Given the description of an element on the screen output the (x, y) to click on. 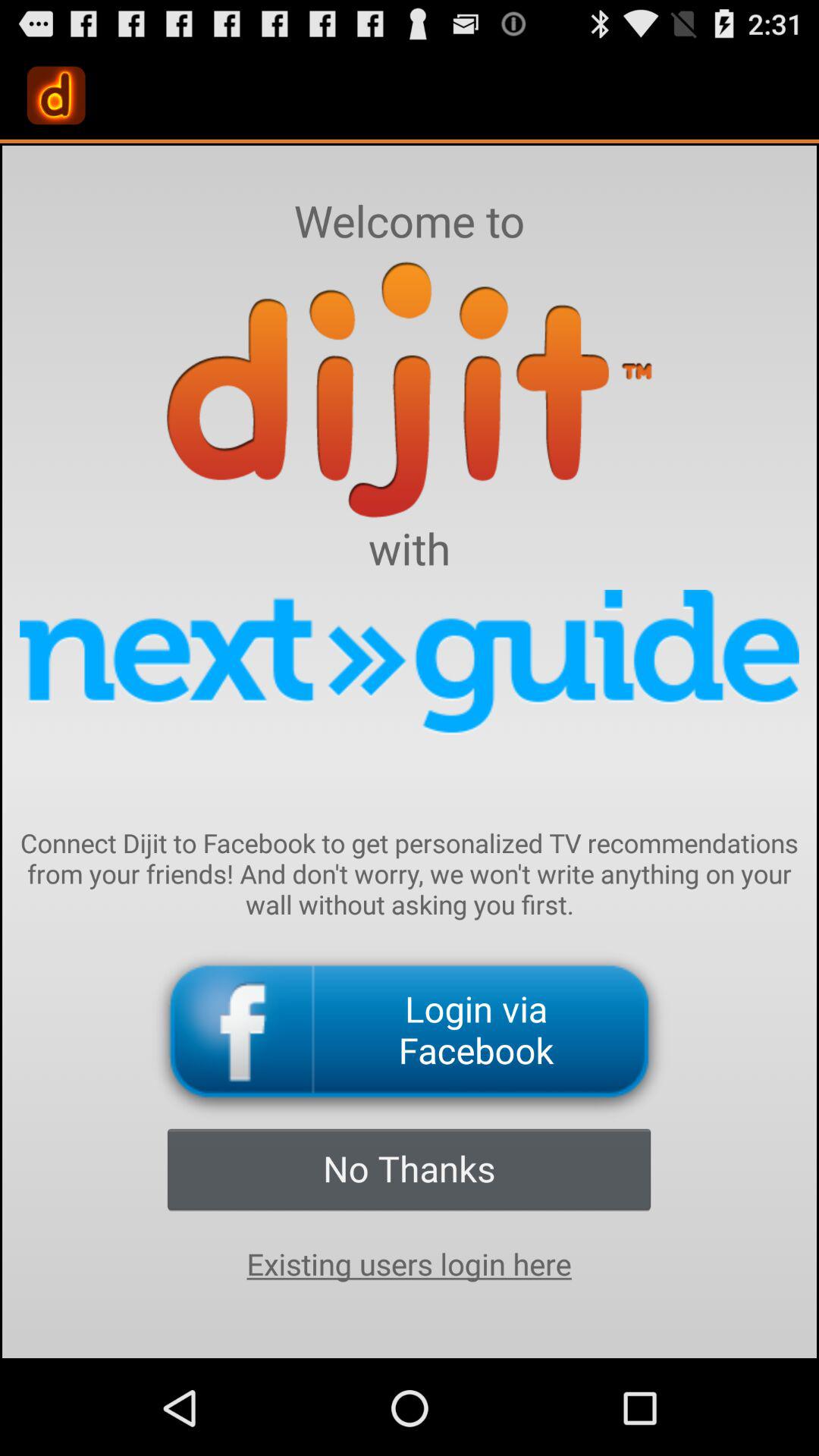
scroll to the login via facebook (409, 1031)
